Given the description of an element on the screen output the (x, y) to click on. 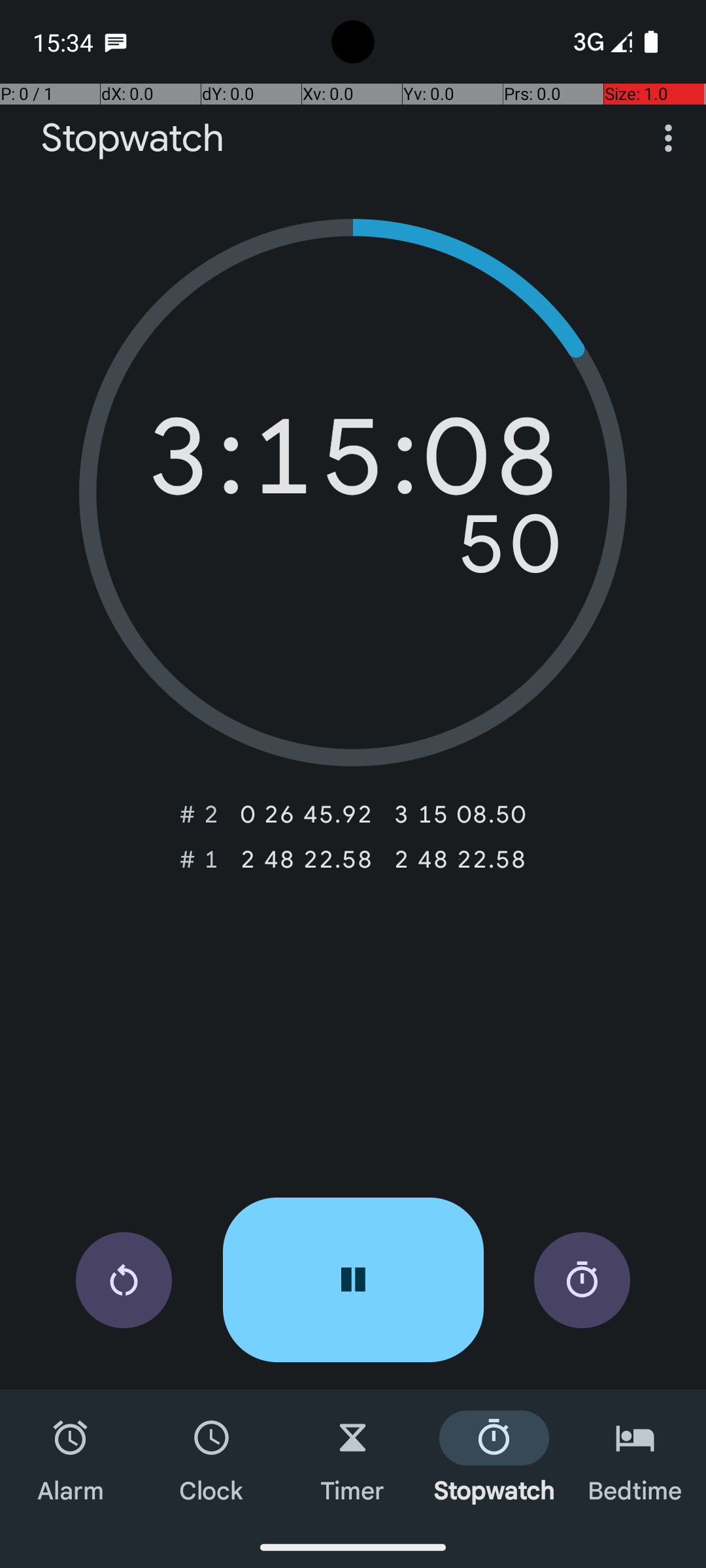
3:15:08 Element type: android.widget.TextView (352, 462)
# 2 Element type: android.widget.TextView (198, 814)
0‎ 26‎ 45.92 Element type: android.widget.TextView (305, 814)
3‎ 15‎ 08.50 Element type: android.widget.TextView (459, 814)
# 1 Element type: android.widget.TextView (198, 859)
2‎ 48‎ 22.58 Element type: android.widget.TextView (305, 859)
